Given the description of an element on the screen output the (x, y) to click on. 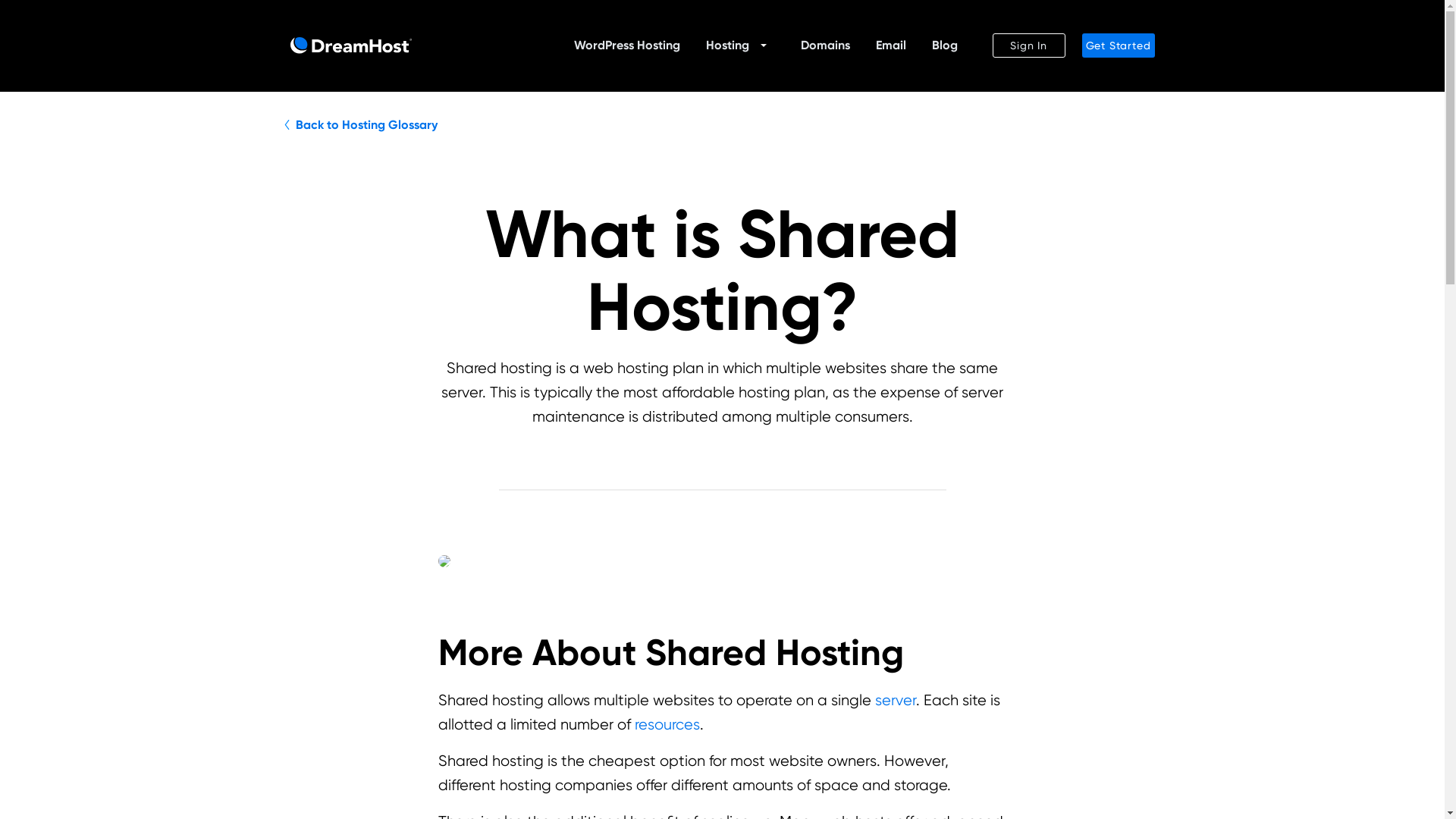
resources (665, 723)
Blog (943, 45)
Email (890, 45)
Get Started (1117, 45)
Domains (825, 45)
Sign In (1027, 45)
WordPress Hosting (626, 45)
server (895, 700)
Hosting (726, 45)
Back to Hosting Glossary (362, 125)
